Given the description of an element on the screen output the (x, y) to click on. 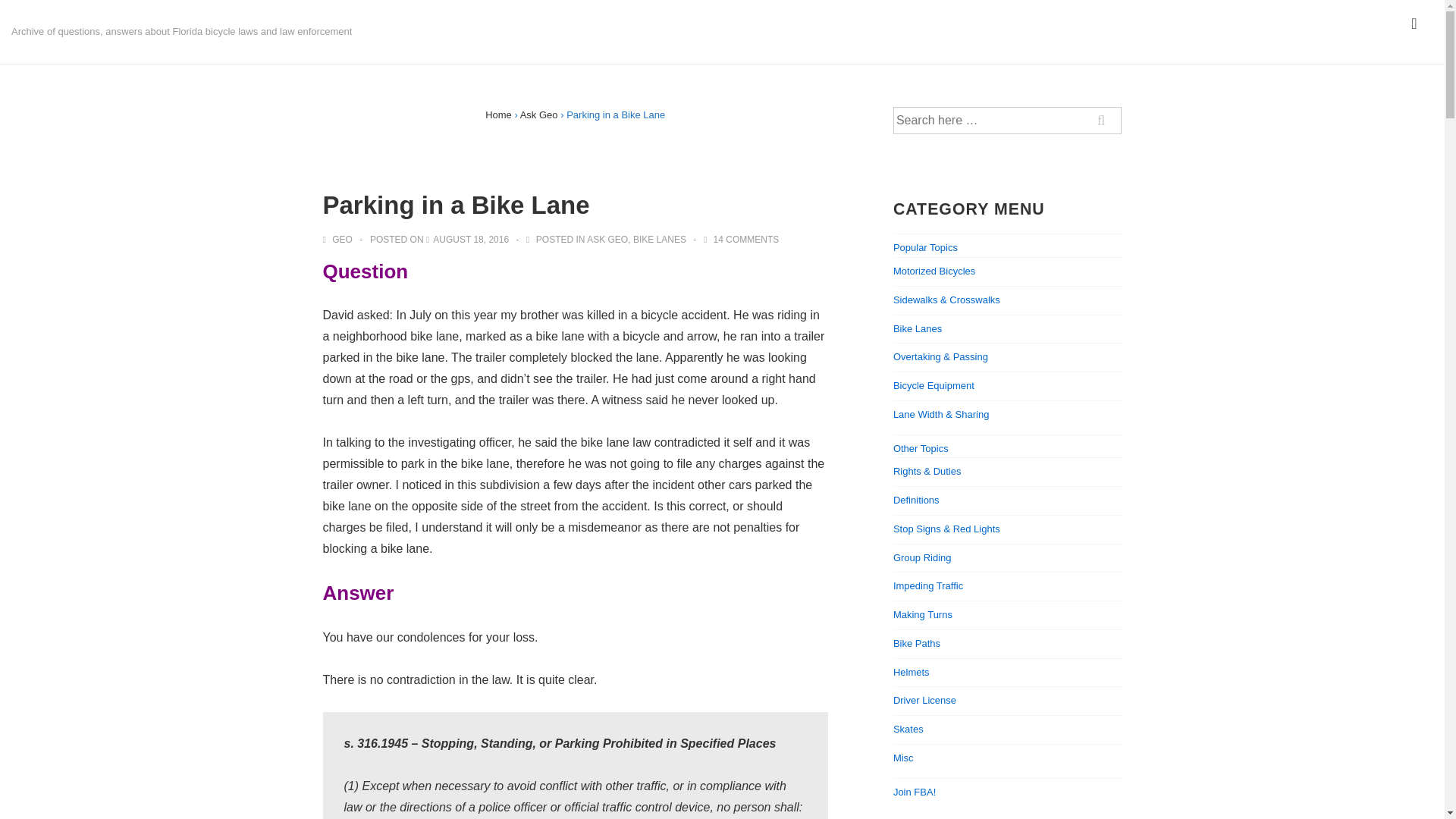
View all posts by Geo (339, 239)
14 COMMENTS (745, 239)
Ask Geo (538, 114)
MENU (1414, 23)
BIKE LANES (659, 239)
Parking in a Bike Lane (470, 239)
AUGUST 18, 2016 (470, 239)
ASK GEO (606, 239)
GEO (339, 239)
Home (498, 114)
